Given the description of an element on the screen output the (x, y) to click on. 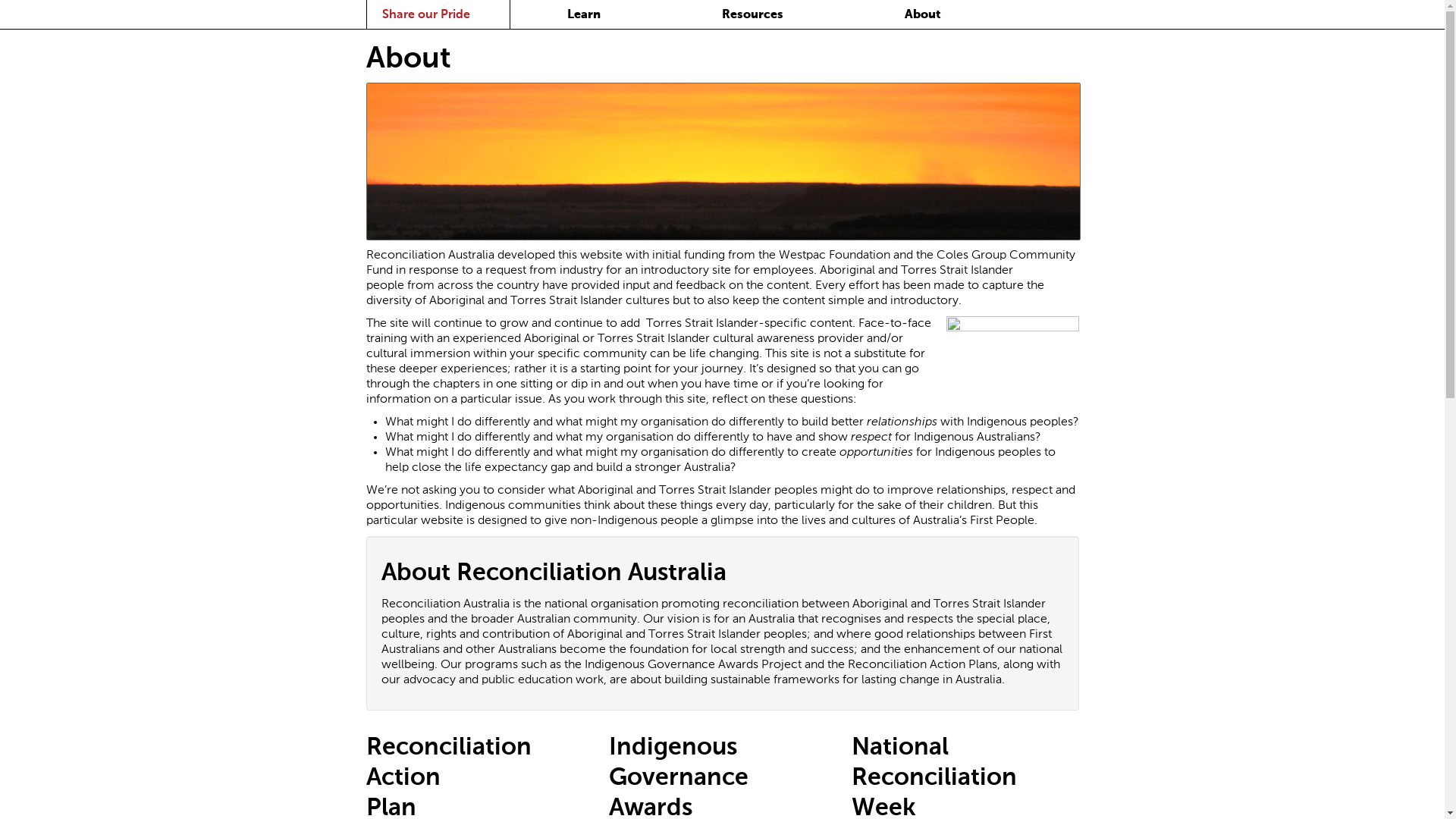
Share our Pride Element type: text (426, 15)
About Element type: text (921, 15)
sunset-bg-blur Element type: hover (722, 161)
Resources Element type: text (752, 15)
RA-Logo Element type: hover (1012, 358)
Learn Element type: text (583, 15)
